Given the description of an element on the screen output the (x, y) to click on. 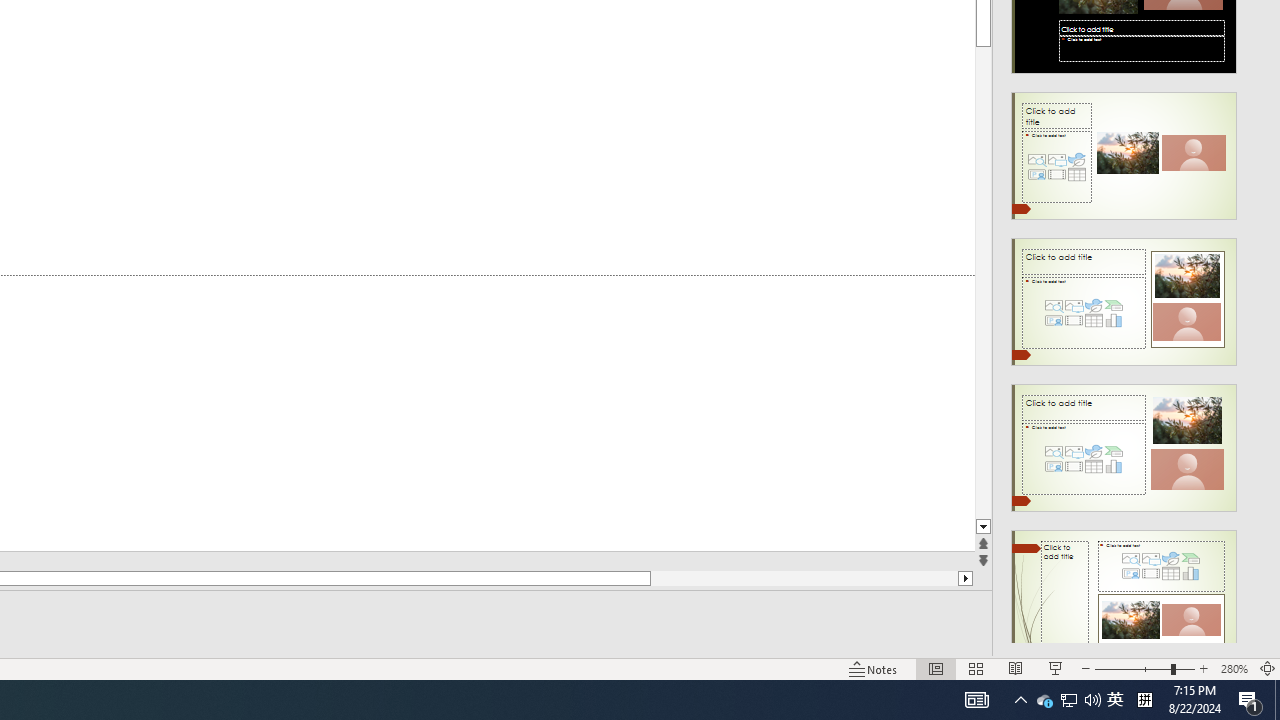
Zoom 280% (1234, 668)
